Given the description of an element on the screen output the (x, y) to click on. 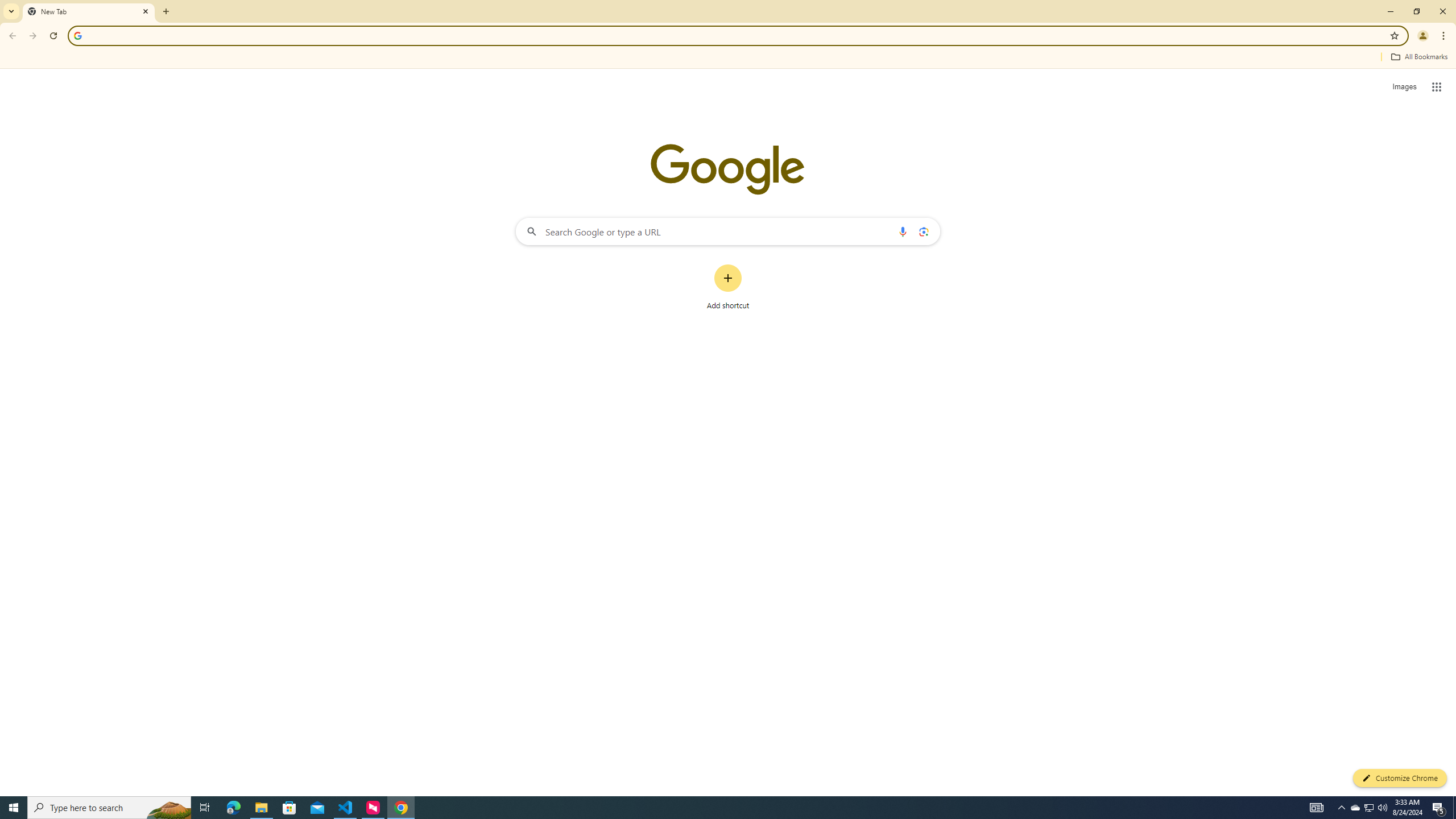
Bookmarks (728, 58)
